Given the description of an element on the screen output the (x, y) to click on. 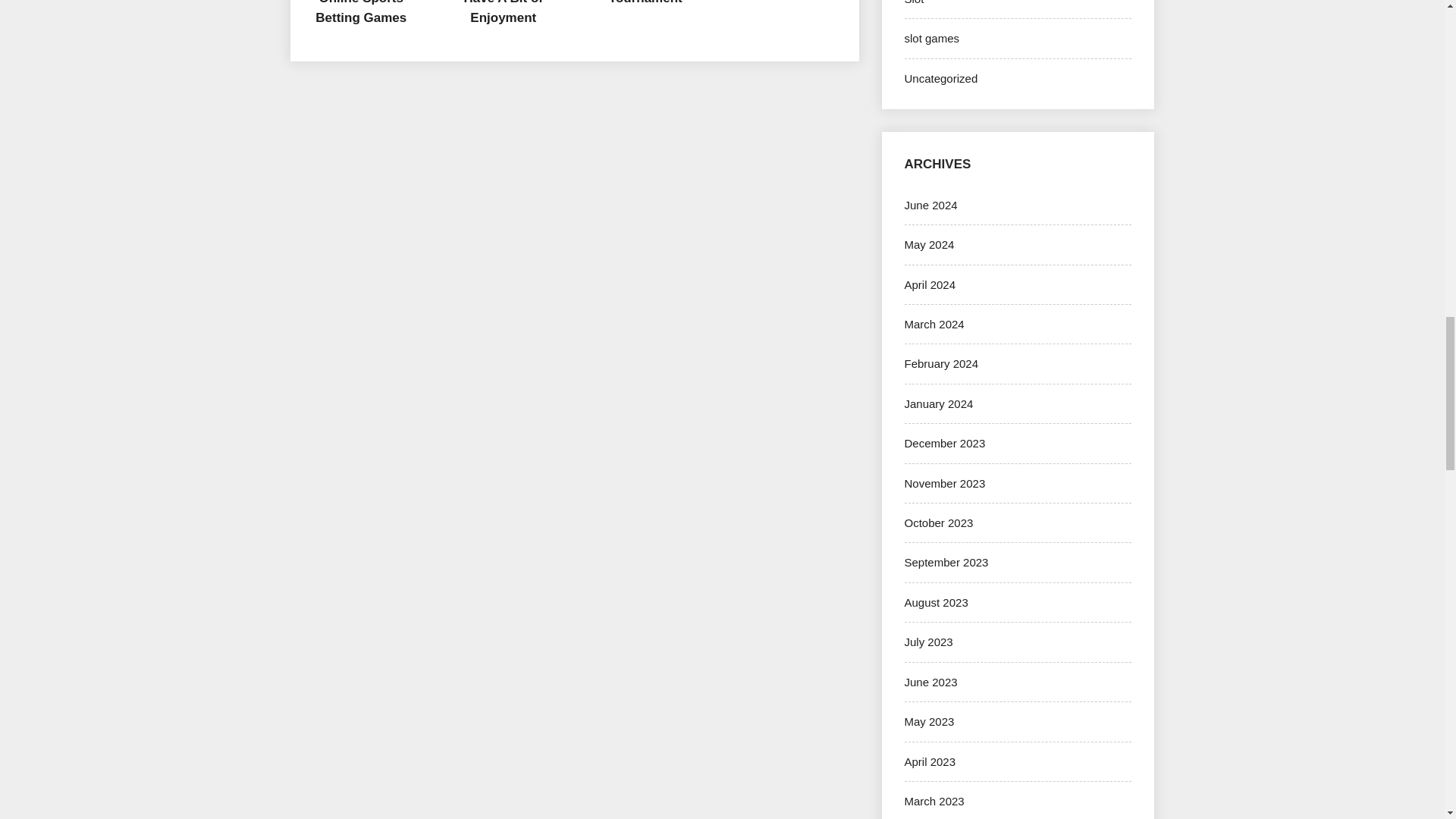
Slot (913, 2)
Take a Test Run in an Online Lottery Tournament (645, 2)
Common Strategies For Online Sports Betting Games (360, 12)
